Given the description of an element on the screen output the (x, y) to click on. 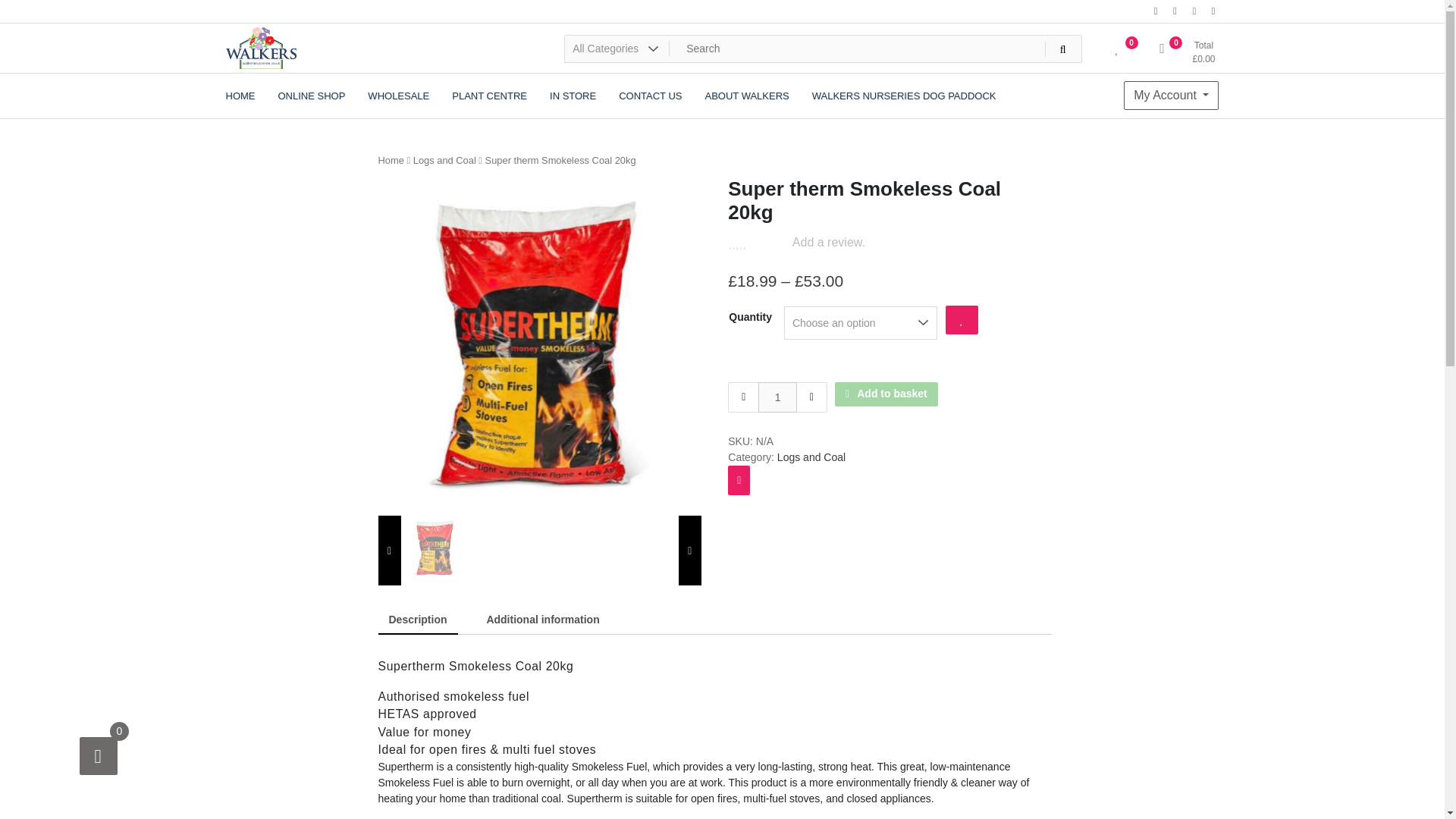
WALKERS NURSERIES DOG PADDOCK (903, 95)
1 (777, 397)
HOME (240, 95)
Add to basket (885, 394)
Add a review. (829, 241)
My Account (1171, 95)
Home (390, 160)
WHOLESALE (398, 95)
Logs and Coal (811, 457)
CONTACT US (650, 95)
PLANT CENTRE (489, 95)
0 (1117, 52)
ABOUT WALKERS (746, 95)
Walkers Nurseries (324, 84)
Description (417, 619)
